Given the description of an element on the screen output the (x, y) to click on. 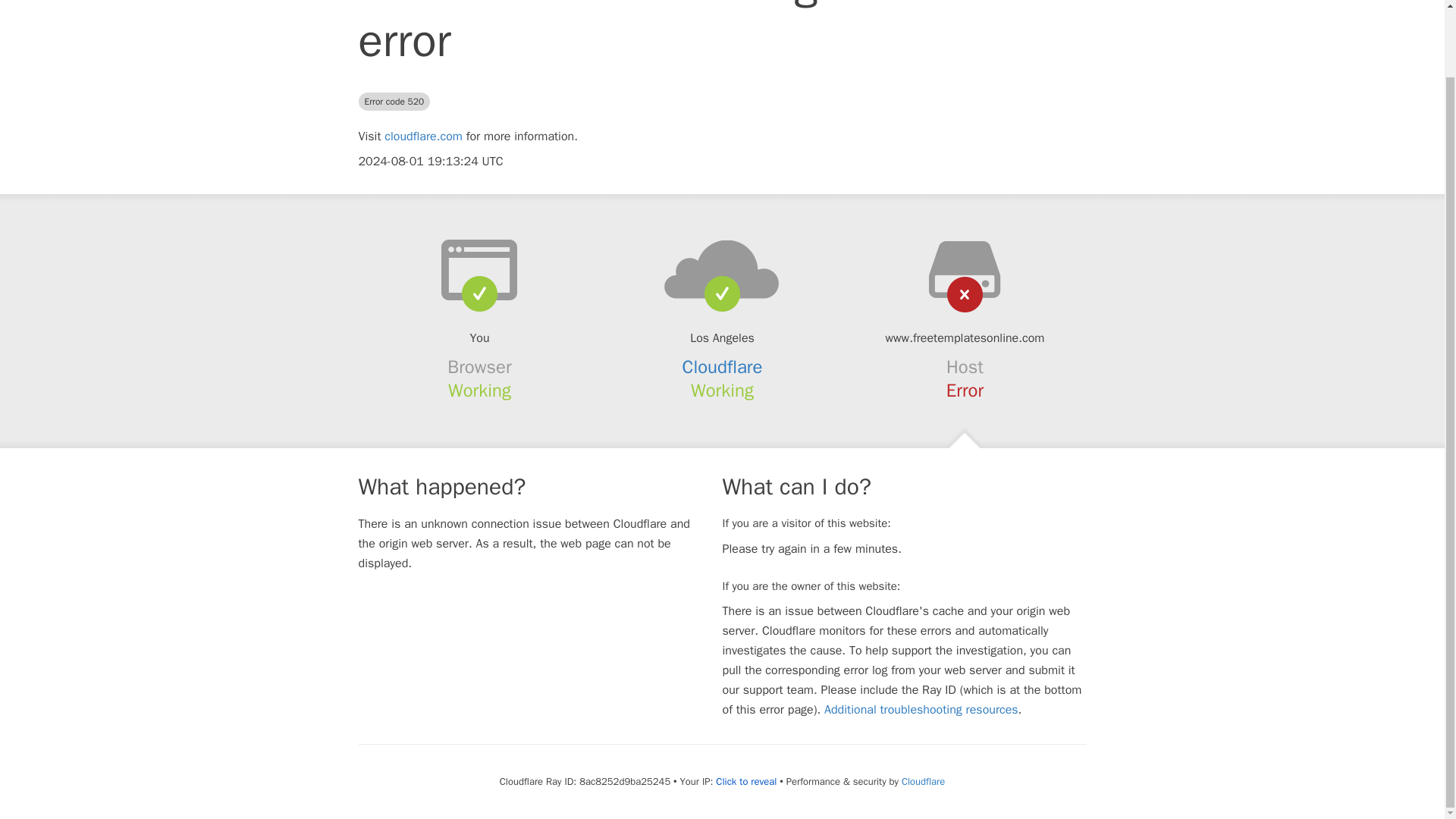
Cloudflare (722, 366)
cloudflare.com (423, 136)
Cloudflare (922, 780)
Additional troubleshooting resources (920, 709)
Click to reveal (746, 781)
